Given the description of an element on the screen output the (x, y) to click on. 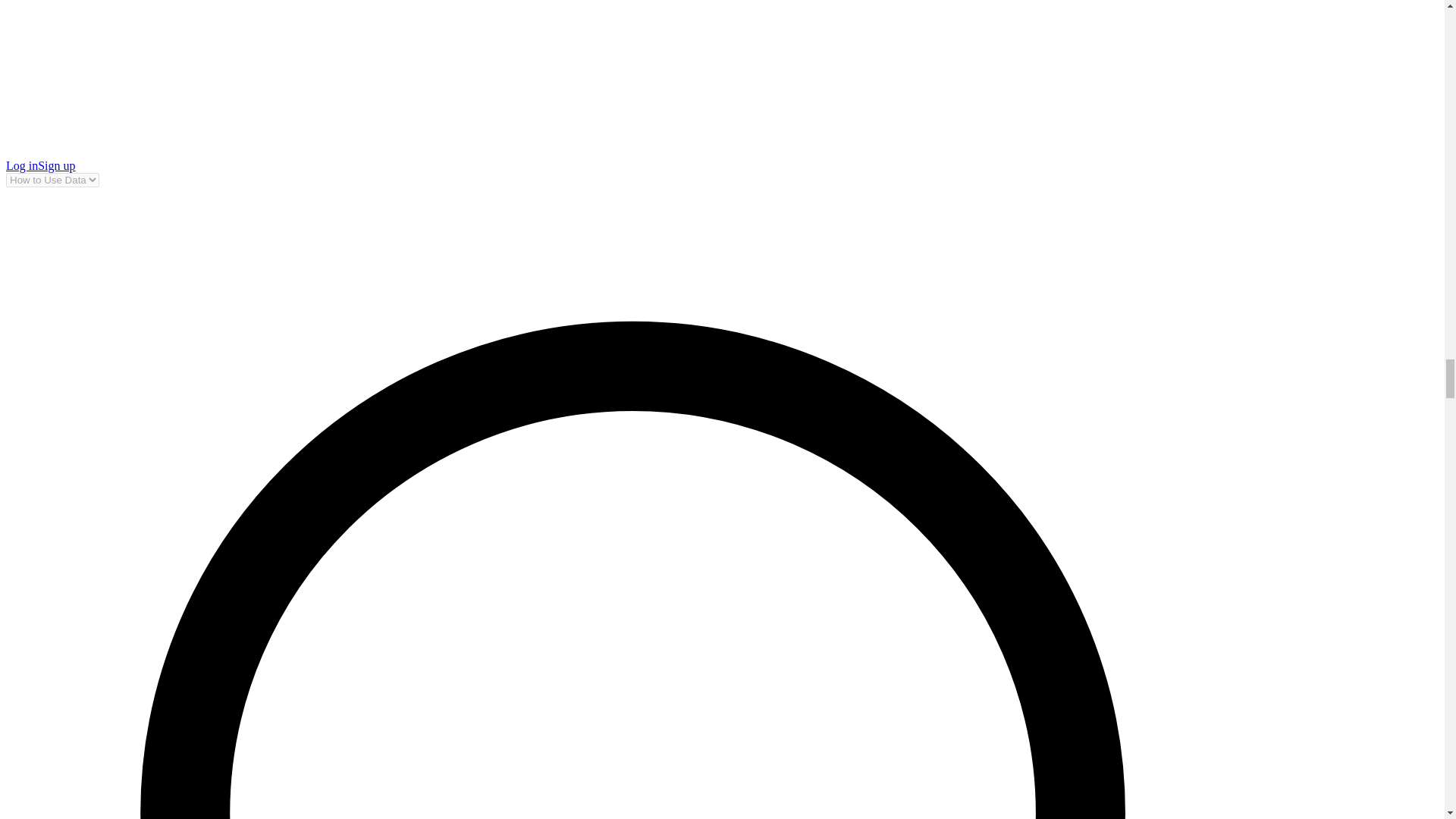
Log in (21, 164)
Sign up (56, 164)
